Given the description of an element on the screen output the (x, y) to click on. 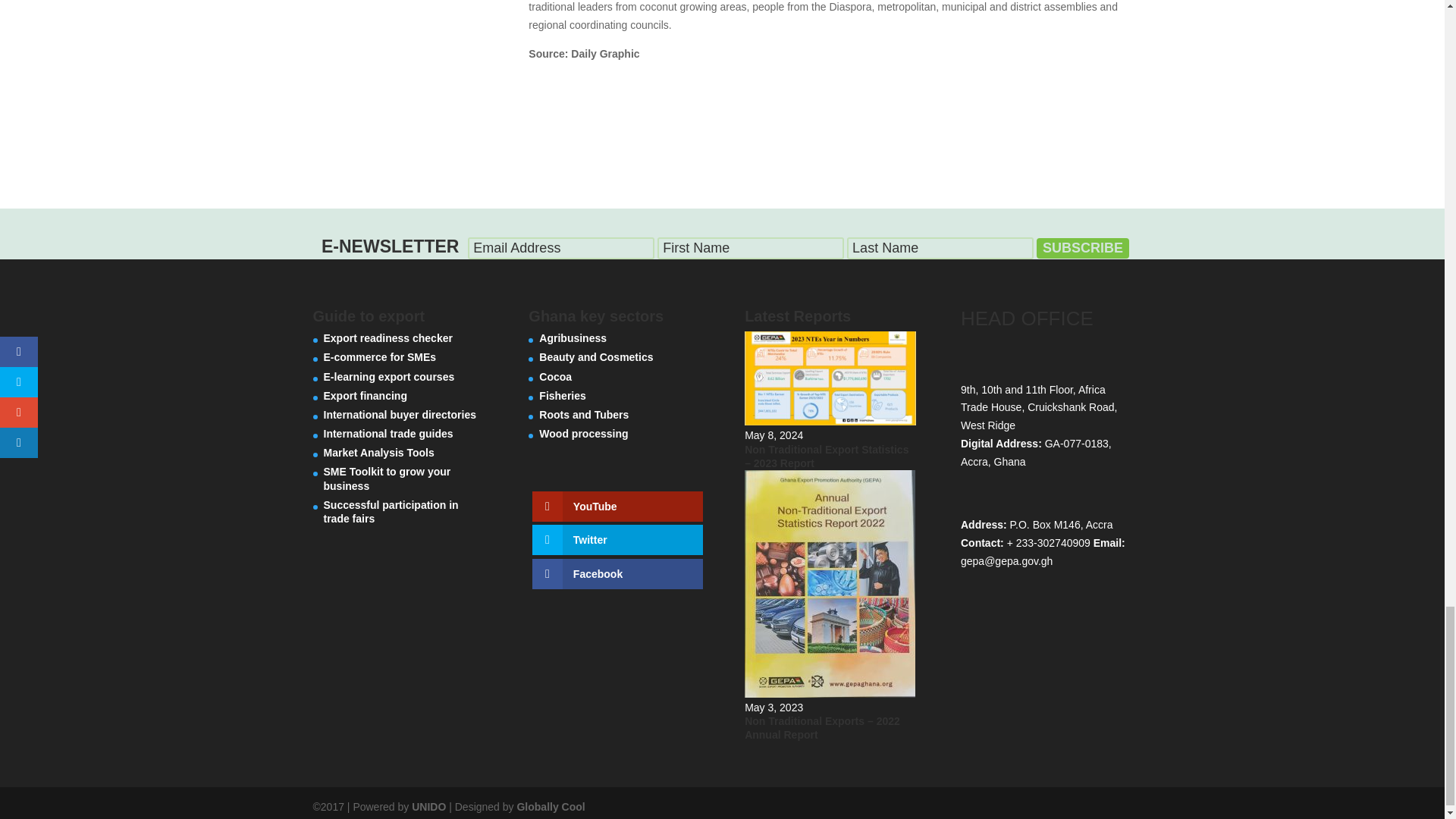
United Nations Industrial Development Organization (428, 806)
Subscribe (1082, 248)
